Given the description of an element on the screen output the (x, y) to click on. 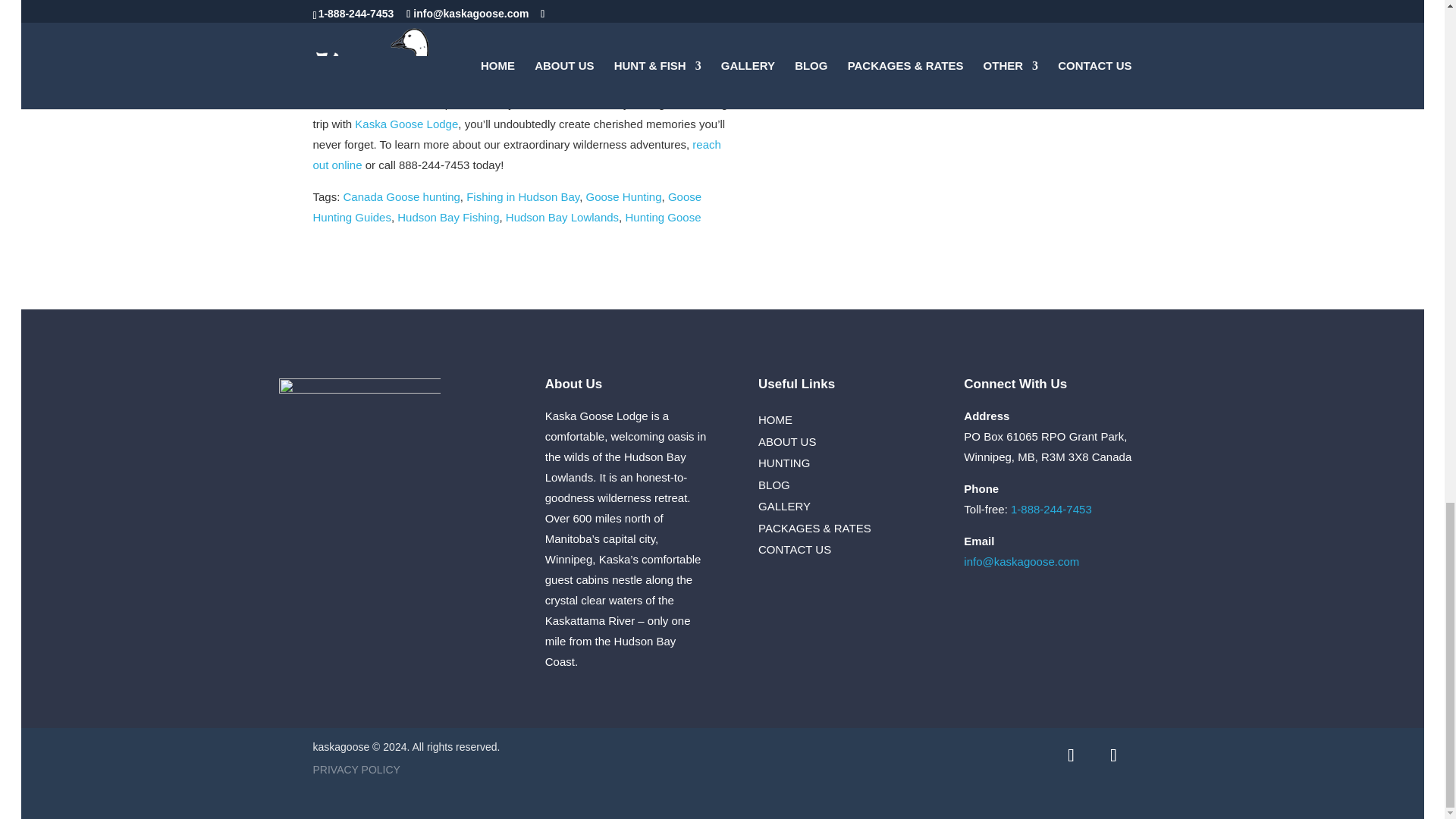
Snow-goose-cabin - Kaska Goose Lodge (822, 142)
Hunting Goose (662, 216)
Fishing in Hudson Bay (522, 196)
Goose Hunting (623, 196)
2023-Kaska-New-Logo-2 (360, 453)
Canada Goose hunting (401, 196)
reach out online (516, 154)
Hudson Bay Lowlands (561, 216)
Hudson Bay Fishing (448, 216)
Follow on Flickr (1112, 755)
